Given the description of an element on the screen output the (x, y) to click on. 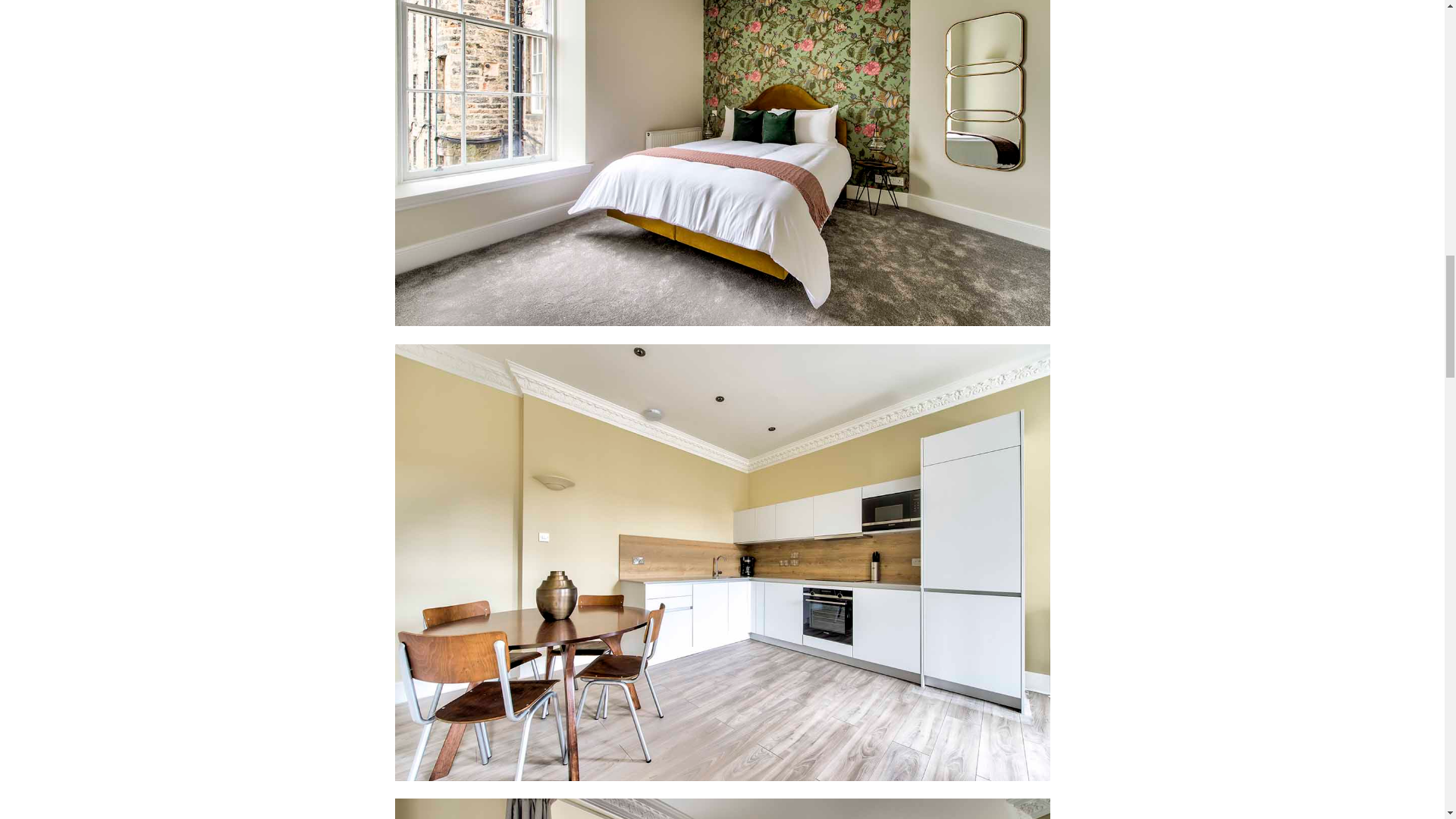
London hotel photographer (721, 808)
